Given the description of an element on the screen output the (x, y) to click on. 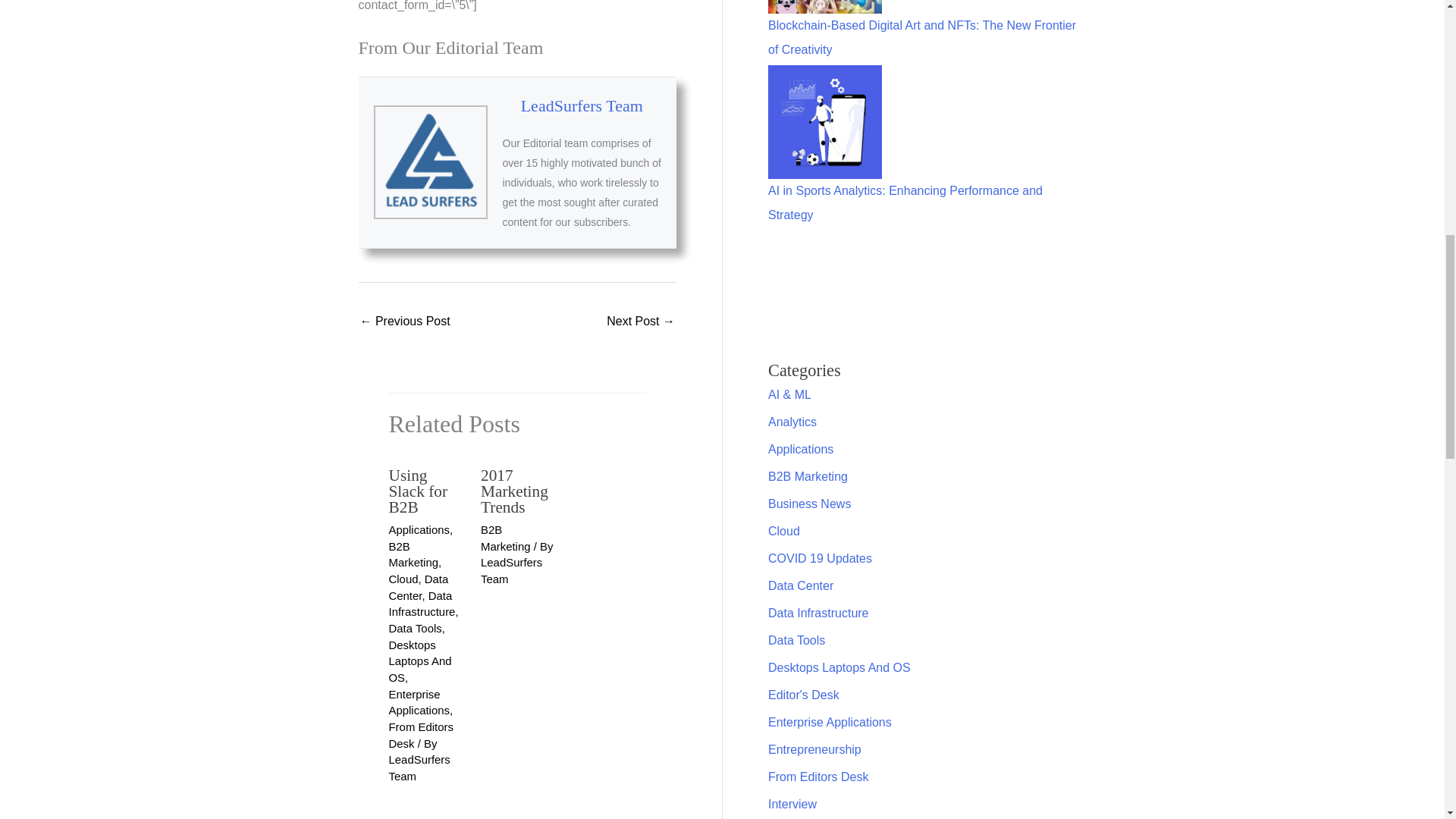
View all posts by LeadSurfers Team (418, 767)
Using Slack for B2B (417, 491)
LeadSurfers Team (582, 105)
Digital Marketing 101 Key Tools For Engagement Marketing (404, 322)
Applications (418, 529)
10 Tips For Digital Marketing Success In 2016 (641, 322)
View all posts by LeadSurfers Team (510, 570)
